Given the description of an element on the screen output the (x, y) to click on. 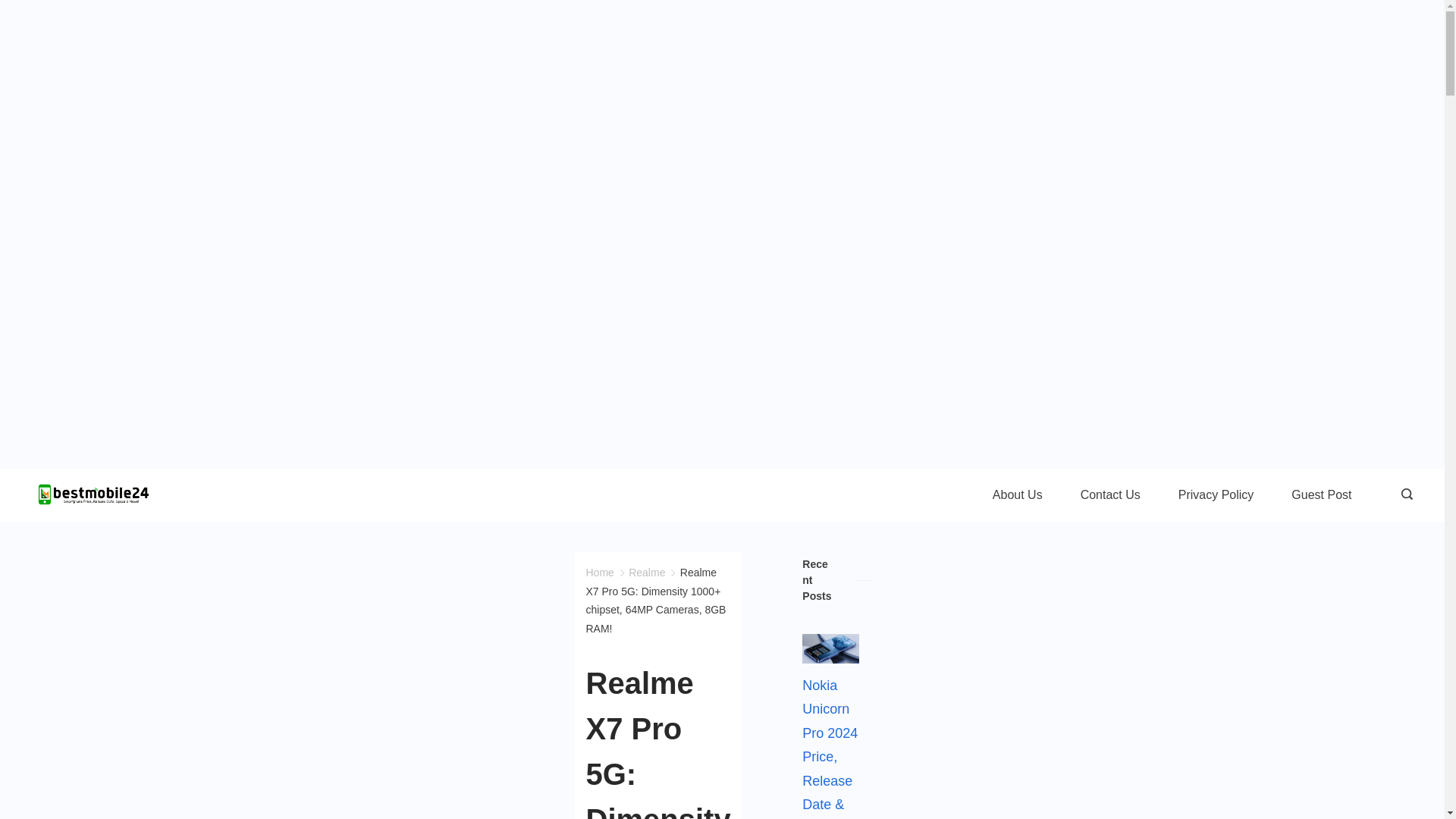
Contact Us (1109, 494)
Realme (646, 572)
Guest Post (1321, 494)
Privacy Policy (1215, 494)
About Us (1017, 494)
Home (598, 572)
